Given the description of an element on the screen output the (x, y) to click on. 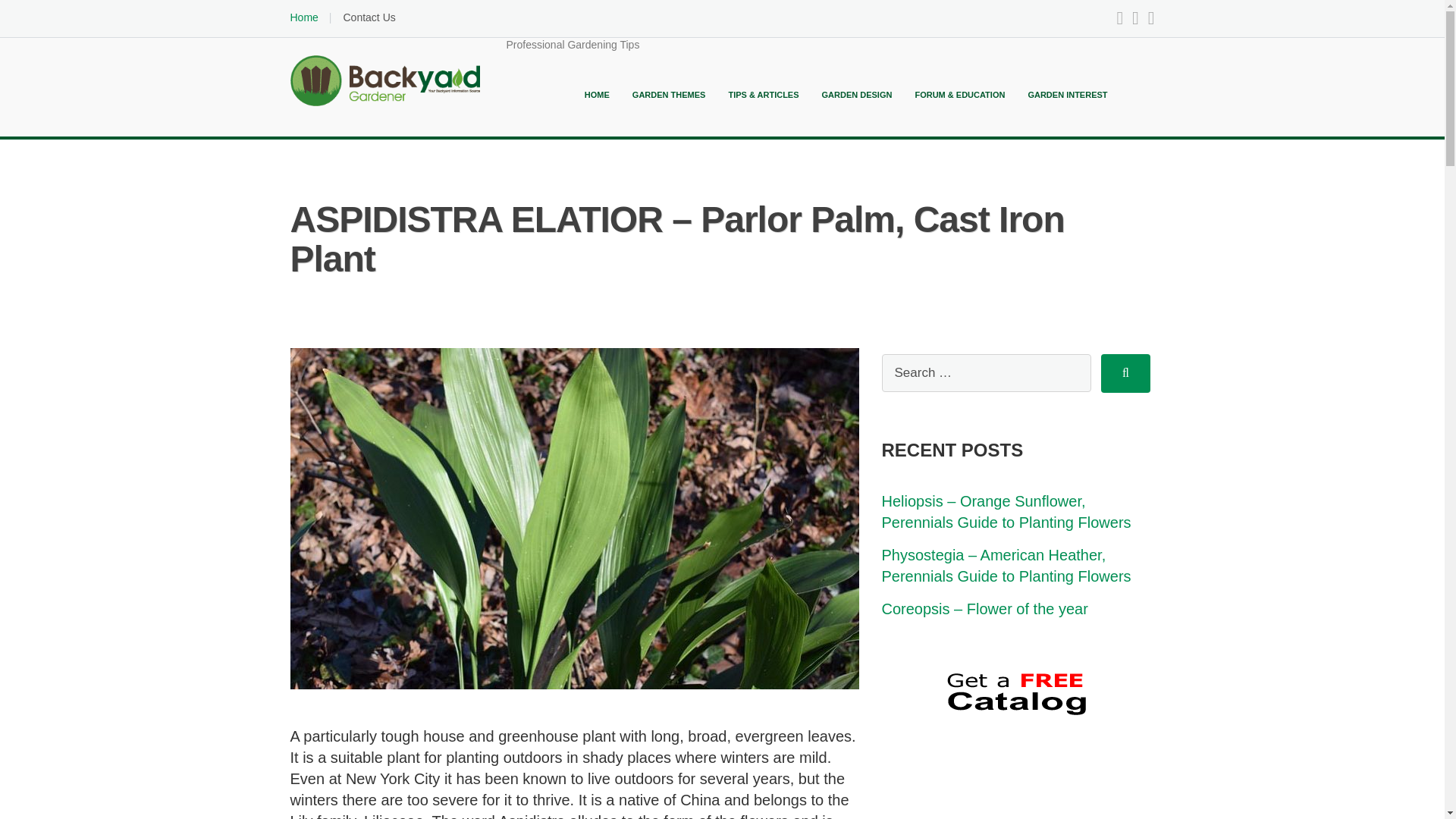
Search for: (985, 372)
Contact Us (368, 17)
GARDEN THEMES (668, 94)
HOME (597, 94)
Home (303, 17)
GARDEN DESIGN (857, 94)
